Given the description of an element on the screen output the (x, y) to click on. 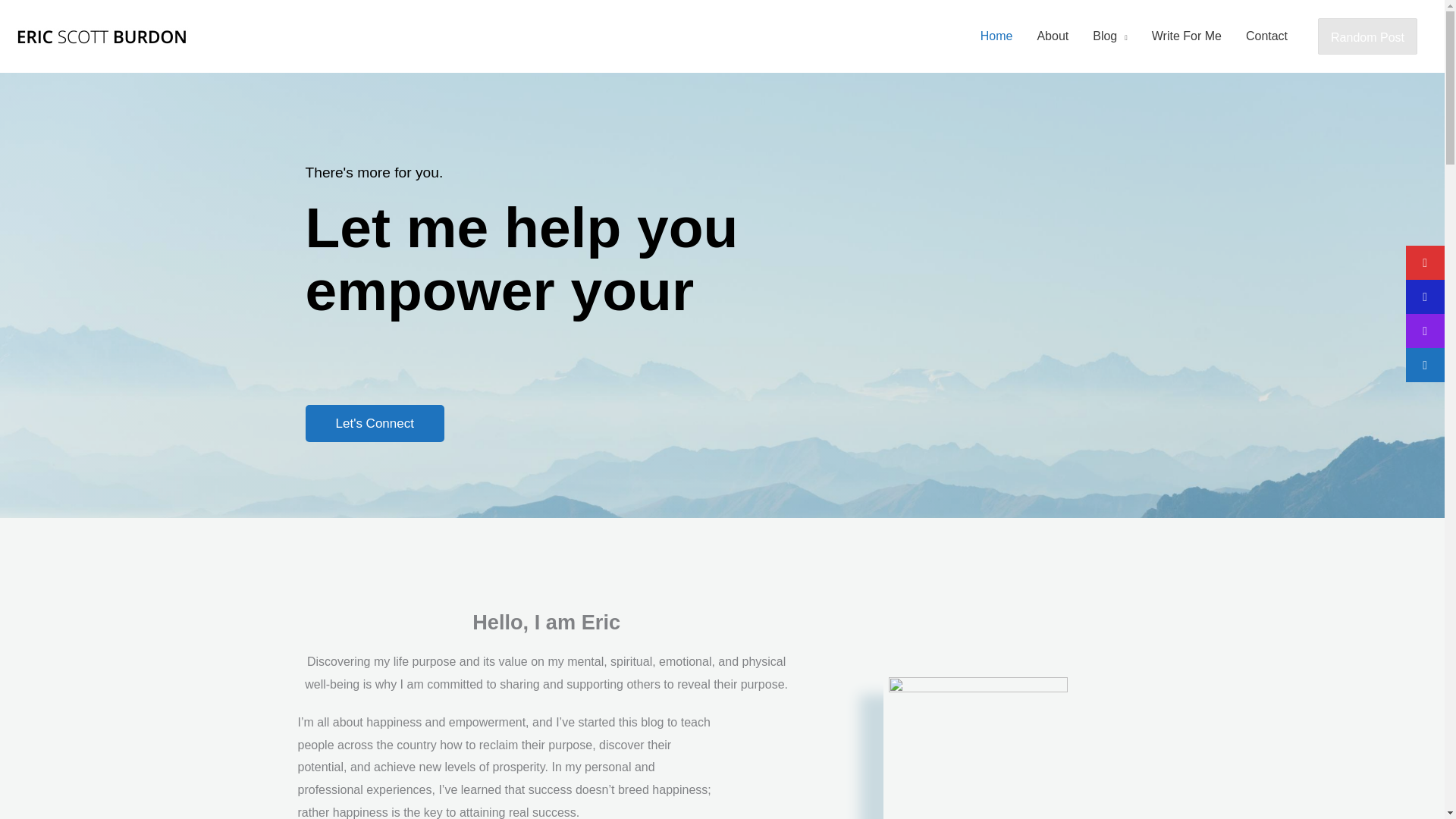
Random Post (1366, 36)
Blog (1110, 36)
Let'S Connect (374, 423)
Contact (1266, 36)
Write For Me (1186, 36)
Home (996, 36)
About (1052, 36)
